Given the description of an element on the screen output the (x, y) to click on. 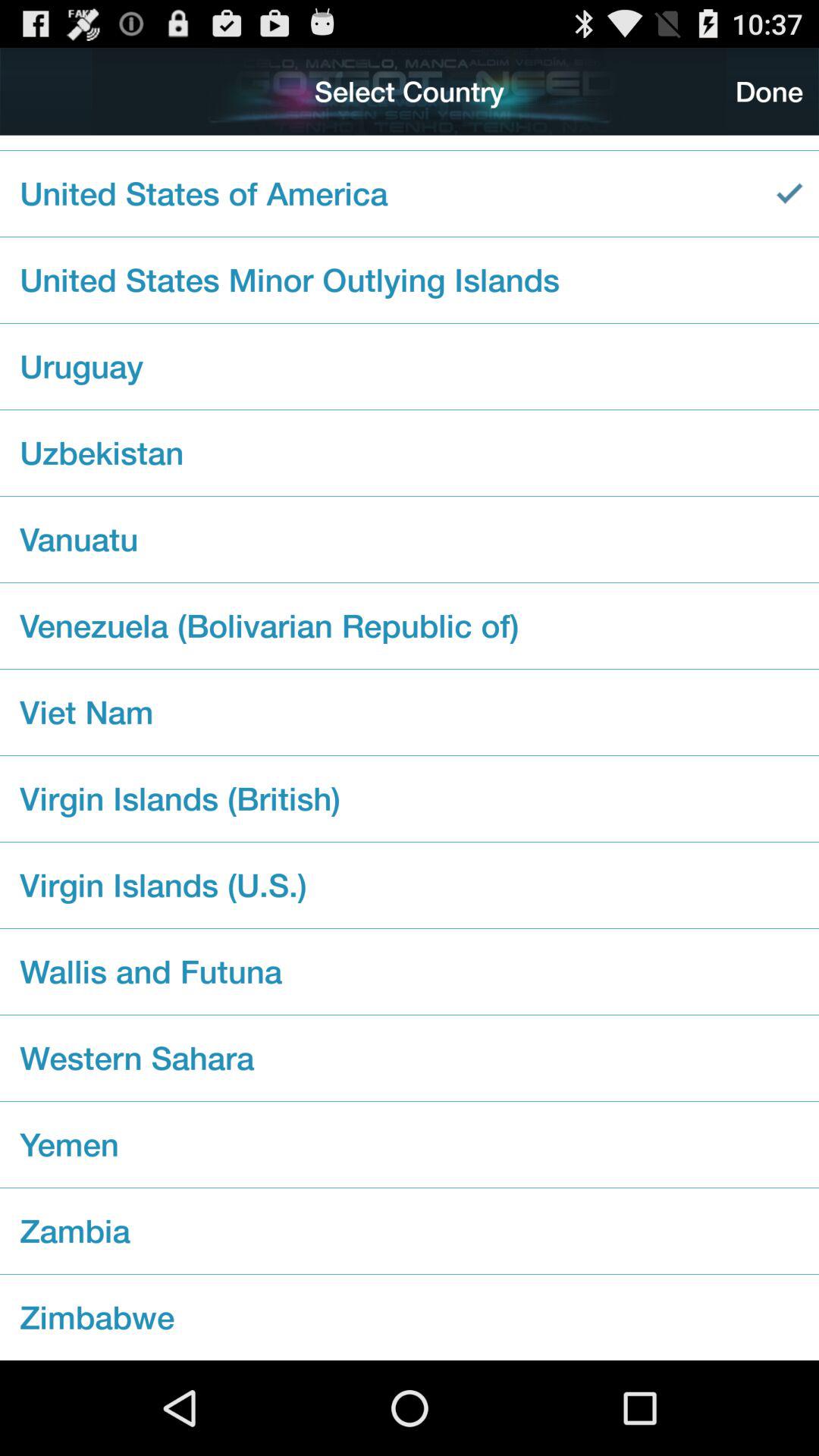
launch venezuela bolivarian republic item (409, 625)
